Given the description of an element on the screen output the (x, y) to click on. 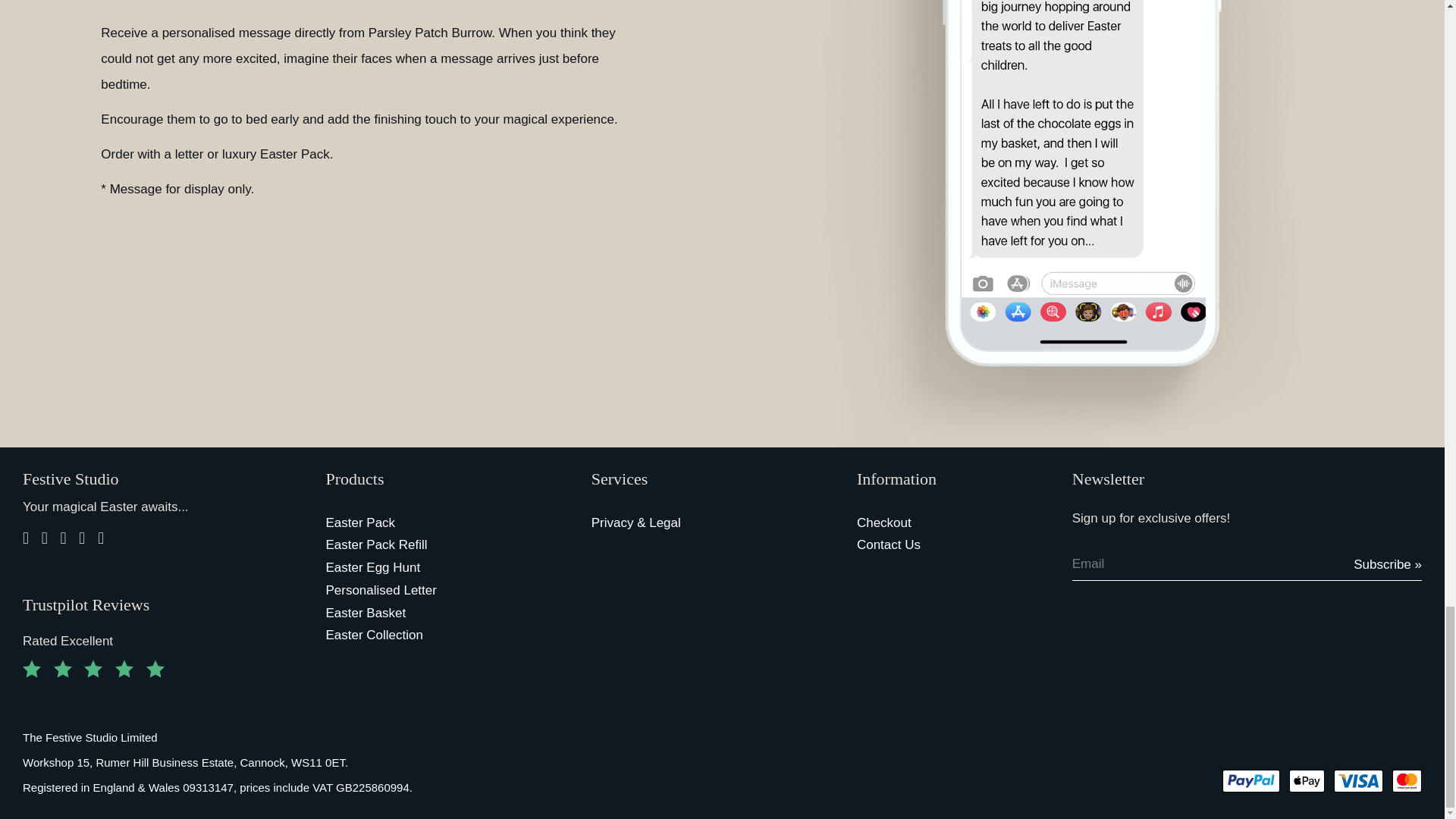
Easter Egg Hunt (420, 567)
Easter Pack (420, 522)
Easter Pack Refill (420, 544)
Easter Collection (420, 635)
Contact Us (952, 544)
Easter Basket (420, 612)
Checkout (952, 522)
Rated Excellent (162, 641)
Personalised Letter (420, 590)
